Given the description of an element on the screen output the (x, y) to click on. 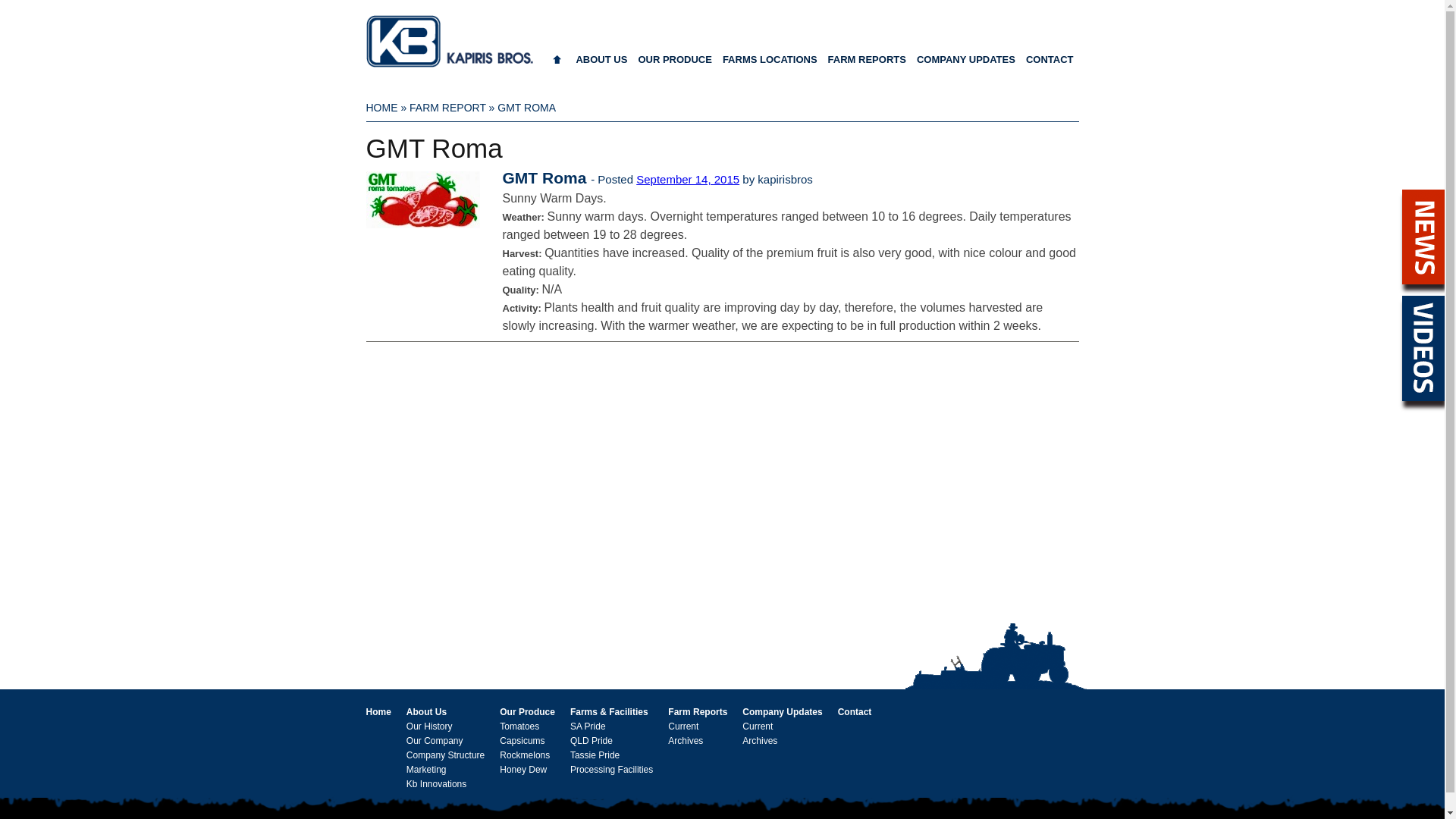
Honey Dew Element type: text (522, 769)
SA Pride Element type: text (587, 726)
Kb Innovations Element type: text (436, 783)
Farms & Facilities Element type: text (609, 711)
Our Produce Element type: text (527, 711)
Company Updates Element type: text (782, 711)
FARMS LOCATIONS Element type: text (769, 64)
ABOUT US Element type: text (600, 64)
HOME Element type: text (381, 107)
Tassie Pride Element type: text (594, 754)
About Us Element type: text (426, 711)
CONTACT Element type: text (1049, 64)
Marketing Element type: text (426, 769)
Tomatoes Element type: text (519, 726)
NEWS Element type: text (1423, 236)
Videos Element type: text (1423, 348)
FARM REPORTS Element type: text (867, 64)
Farm Reports Element type: text (697, 711)
September 14, 2015 Element type: text (687, 178)
Archives Element type: text (685, 740)
Our History Element type: text (429, 726)
COMPANY UPDATES Element type: text (966, 64)
QLD Pride Element type: text (591, 740)
OUR PRODUCE Element type: text (674, 64)
Home Element type: text (377, 711)
Current Element type: text (757, 726)
Processing Facilities Element type: text (611, 769)
Company Structure Element type: text (445, 754)
Contact Element type: text (854, 711)
Current Element type: text (683, 726)
Our Company Element type: text (434, 740)
Archives Element type: text (759, 740)
Rockmelons Element type: text (524, 754)
Capsicums Element type: text (521, 740)
FARM REPORT Element type: text (447, 107)
